Given the description of an element on the screen output the (x, y) to click on. 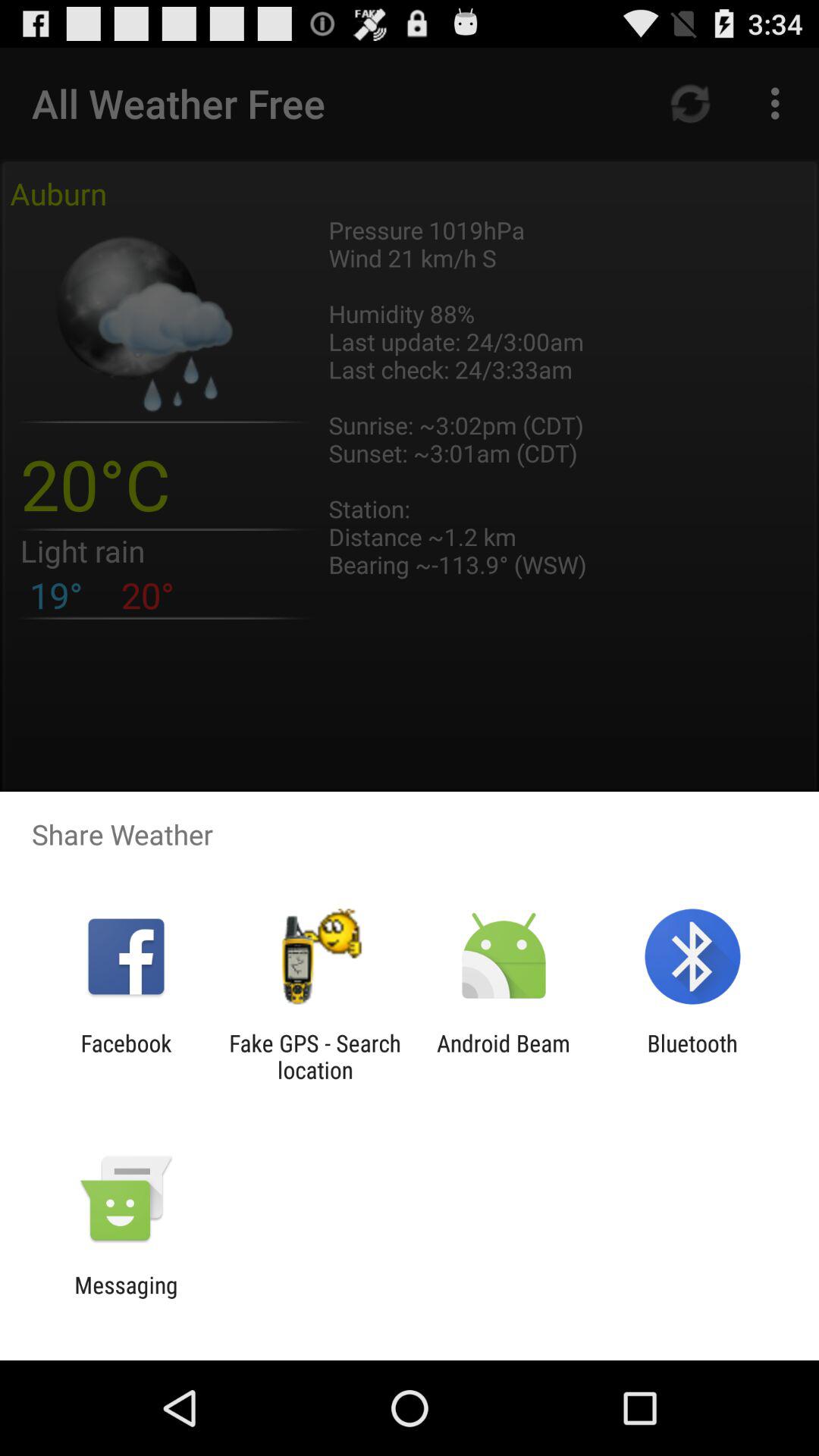
turn off facebook (125, 1056)
